Given the description of an element on the screen output the (x, y) to click on. 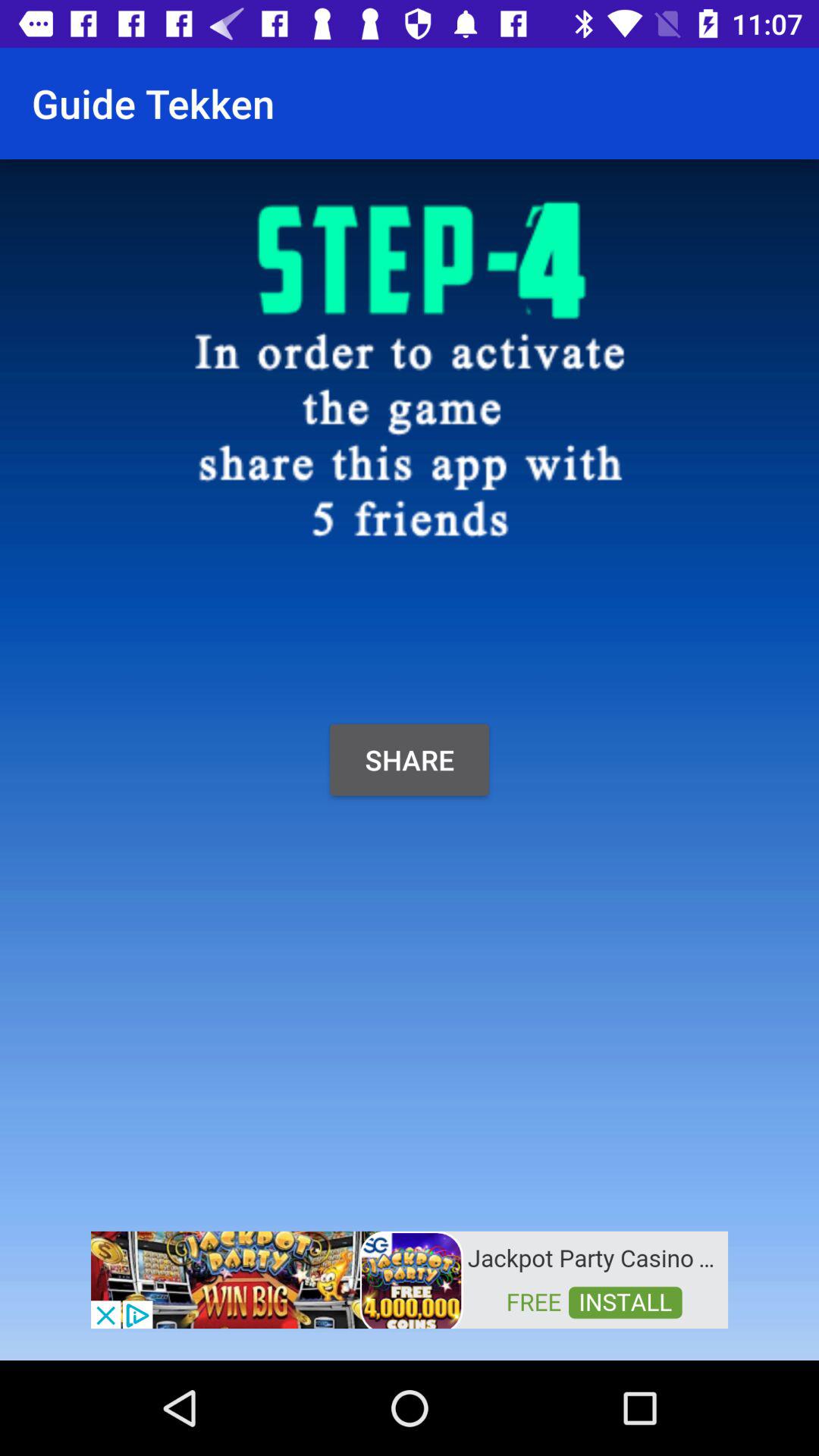
advertisement button (409, 1278)
